Given the description of an element on the screen output the (x, y) to click on. 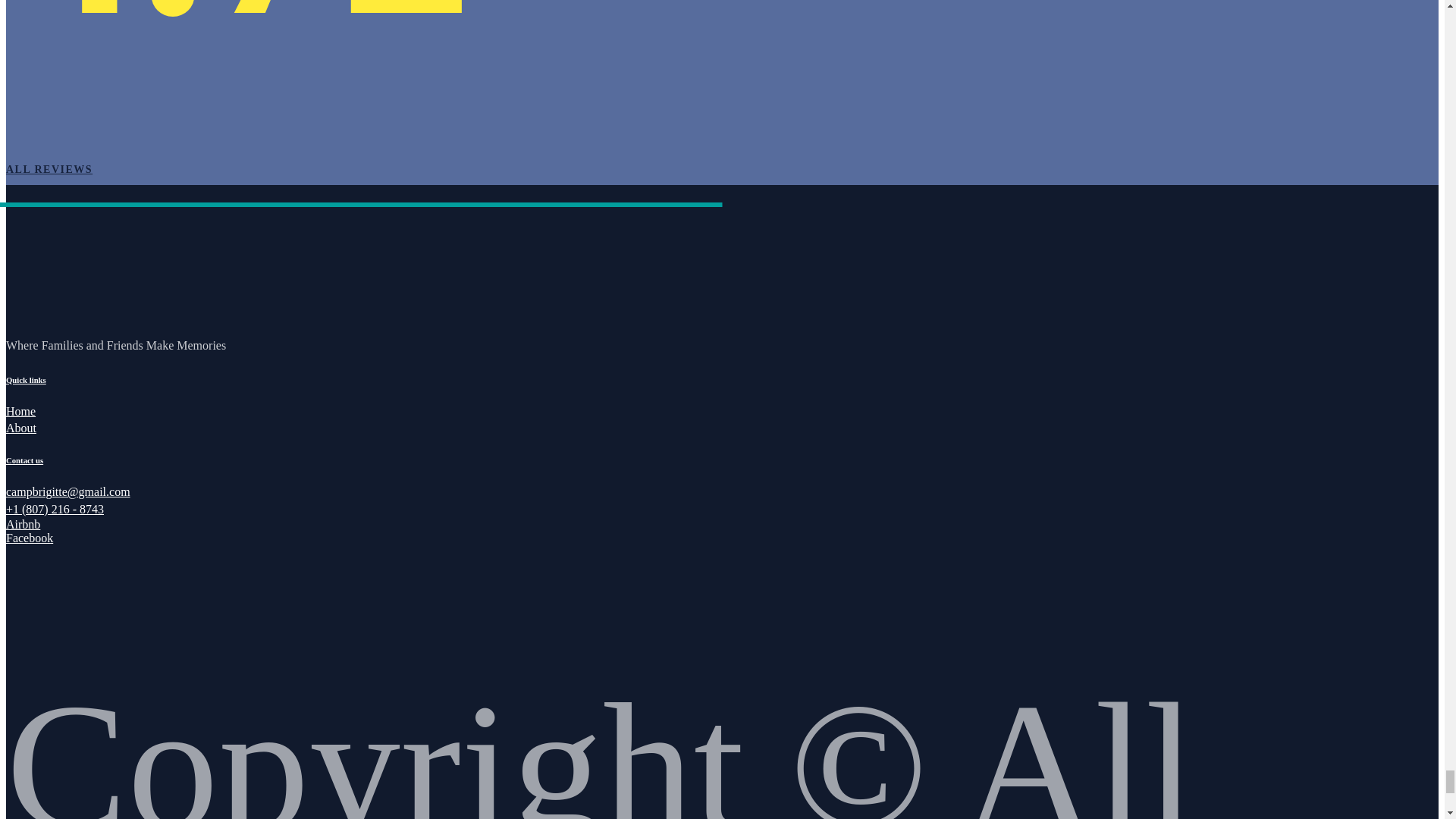
Facebook (28, 537)
Home (19, 410)
About (20, 427)
ALL REVIEWS (49, 169)
Quick links (25, 379)
Contact us (24, 460)
Airbnb (22, 523)
